Given the description of an element on the screen output the (x, y) to click on. 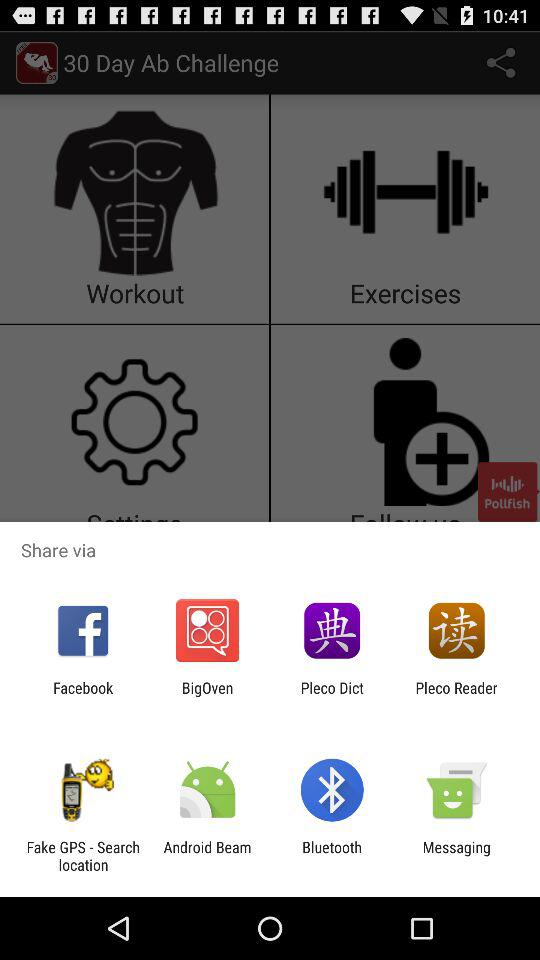
launch the icon next to the bigoven app (83, 696)
